Given the description of an element on the screen output the (x, y) to click on. 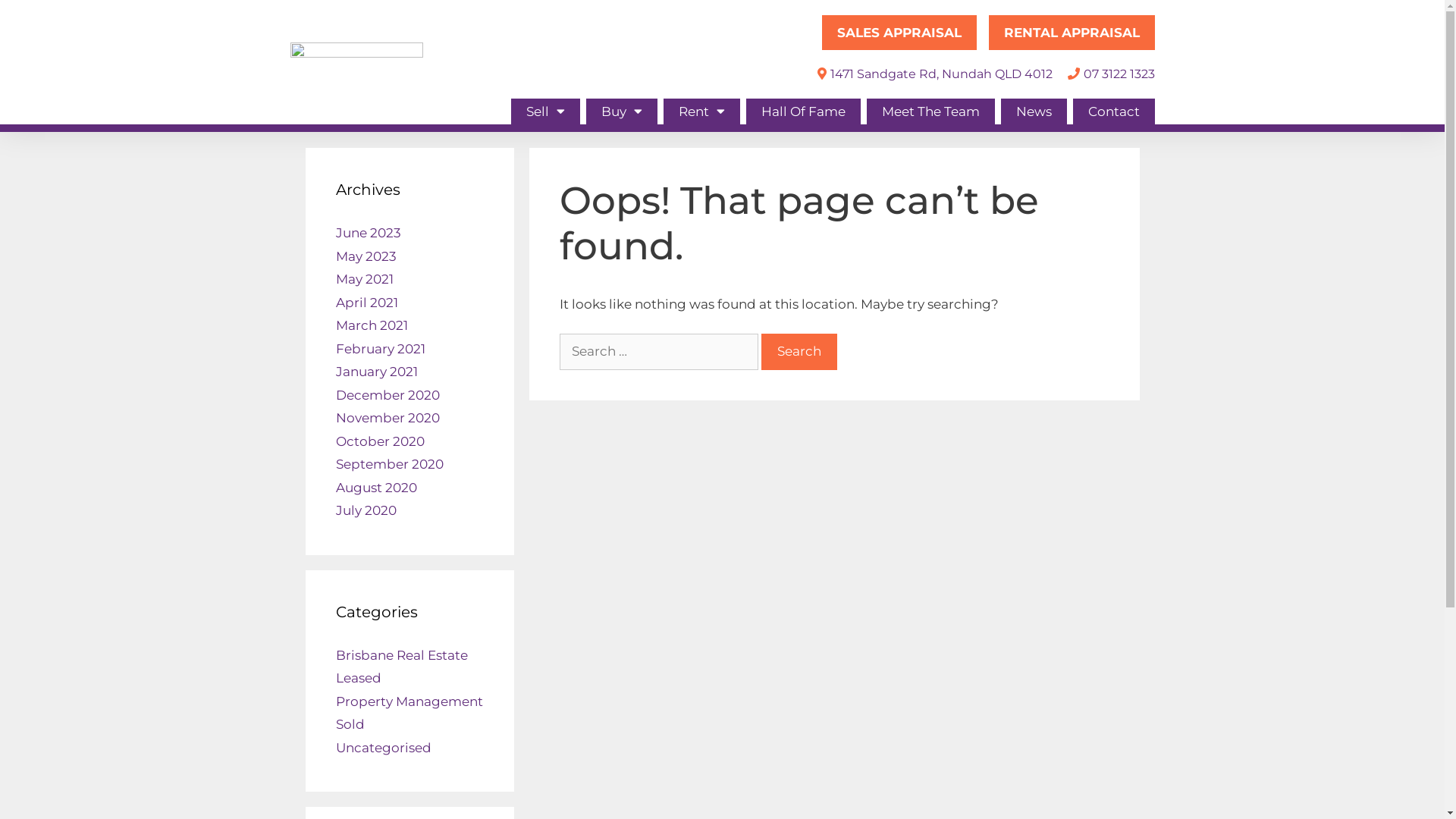
November 2020 Element type: text (387, 417)
April 2021 Element type: text (366, 301)
Brisbane Real Estate Element type: text (401, 654)
Property Management Element type: text (408, 700)
Search Element type: text (799, 351)
October 2020 Element type: text (379, 440)
Leased Element type: text (357, 677)
RENTAL APPRAISAL Element type: text (1071, 32)
June 2023 Element type: text (367, 232)
Hall Of Fame Element type: text (803, 111)
Sell Element type: text (545, 111)
February 2021 Element type: text (379, 348)
Sold Element type: text (349, 723)
News Element type: text (1033, 111)
August 2020 Element type: text (375, 486)
Contact Element type: text (1113, 111)
March 2021 Element type: text (371, 324)
July 2020 Element type: text (365, 509)
07 3122 1323 Element type: text (1109, 74)
May 2021 Element type: text (363, 278)
Search for: Element type: hover (658, 351)
SALES APPRAISAL Element type: text (899, 32)
May 2023 Element type: text (365, 255)
Buy Element type: text (620, 111)
Meet The Team Element type: text (930, 111)
January 2021 Element type: text (376, 371)
Uncategorised Element type: text (382, 747)
1471 Sandgate Rd, Nundah QLD 4012 Element type: text (931, 74)
September 2020 Element type: text (388, 463)
Rent Element type: text (700, 111)
December 2020 Element type: text (387, 393)
